Given the description of an element on the screen output the (x, y) to click on. 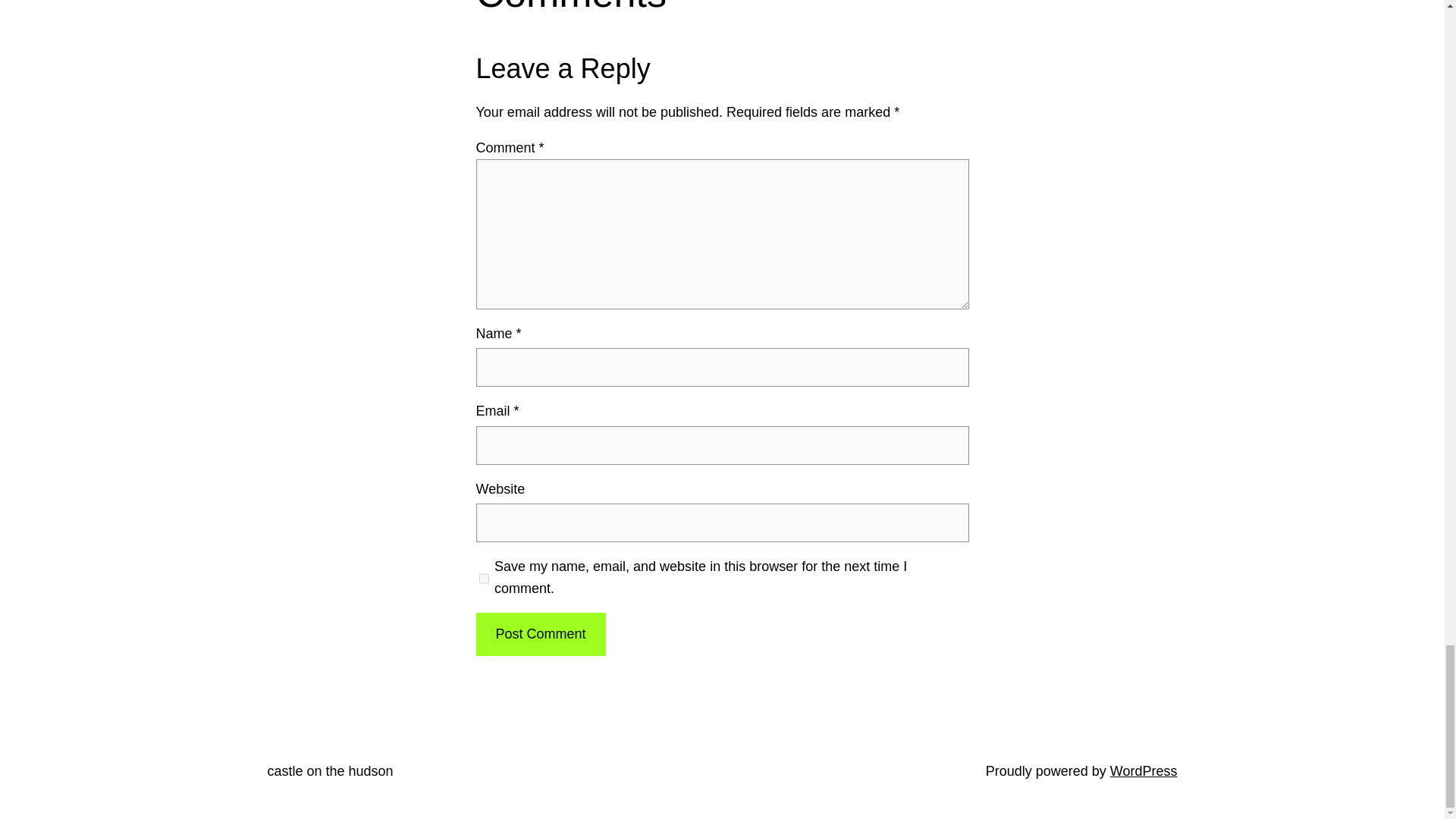
WordPress (1143, 770)
Post Comment (540, 634)
castle on the hudson (329, 770)
Post Comment (540, 634)
